Given the description of an element on the screen output the (x, y) to click on. 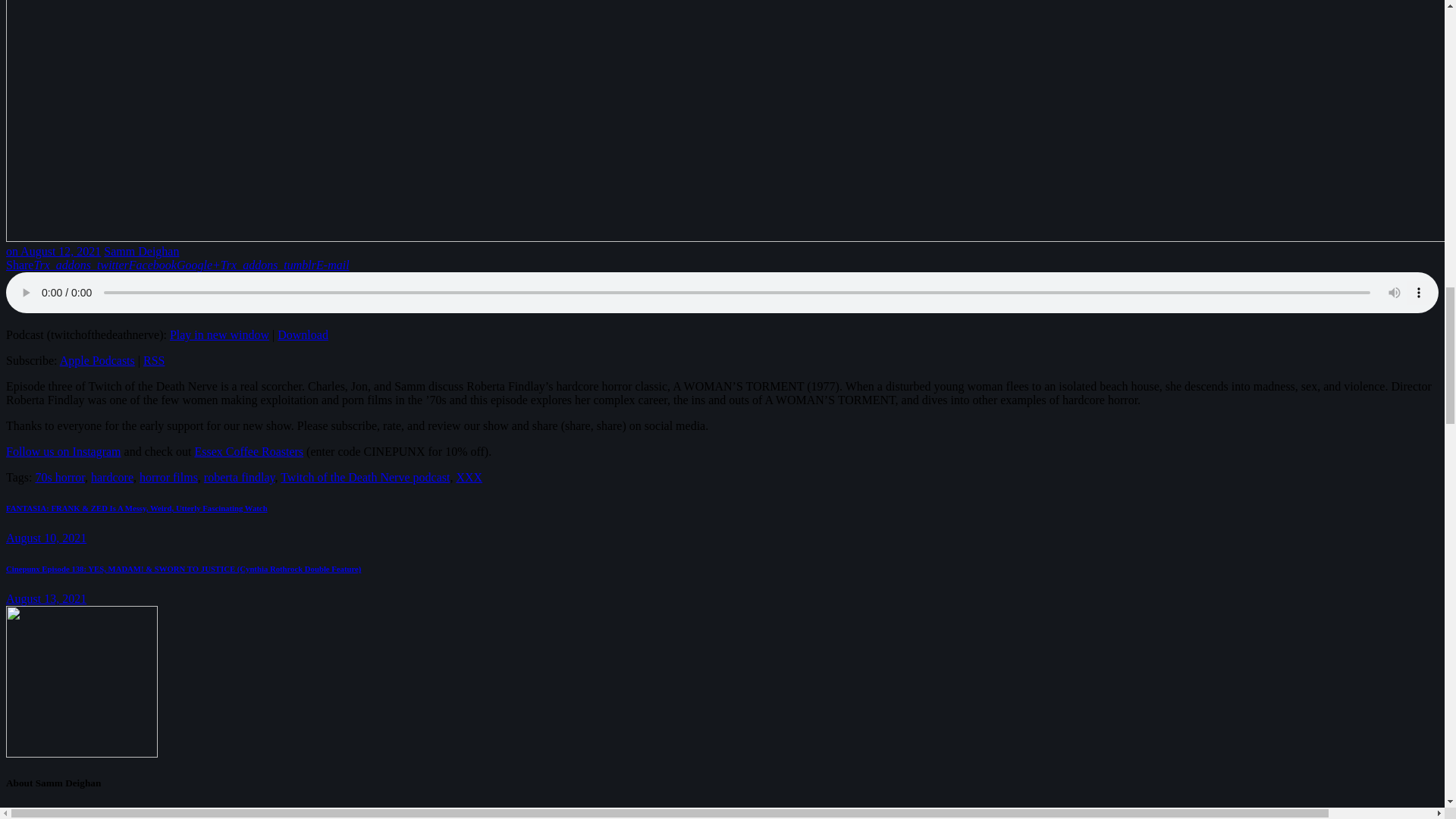
Subscribe on Apple Podcasts (97, 359)
Download (303, 334)
Subscribe via RSS (153, 359)
Play in new window (219, 334)
